Given the description of an element on the screen output the (x, y) to click on. 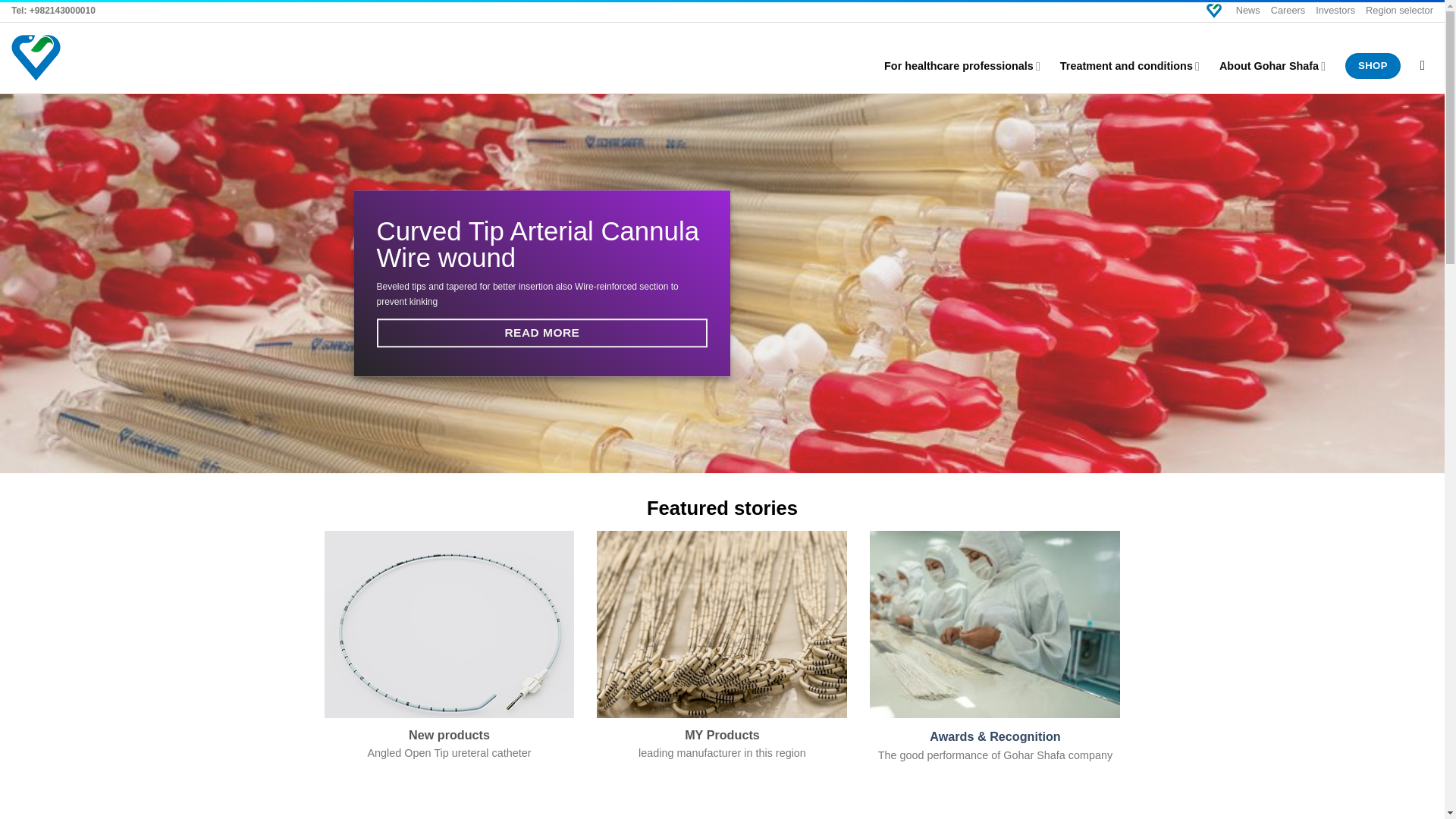
Region selector (1398, 10)
Investors (1335, 10)
About Gohar Shafa (1272, 66)
Careers (1288, 10)
Treatment and conditions (1129, 66)
For healthcare professionals (962, 66)
News (1248, 10)
